Given the description of an element on the screen output the (x, y) to click on. 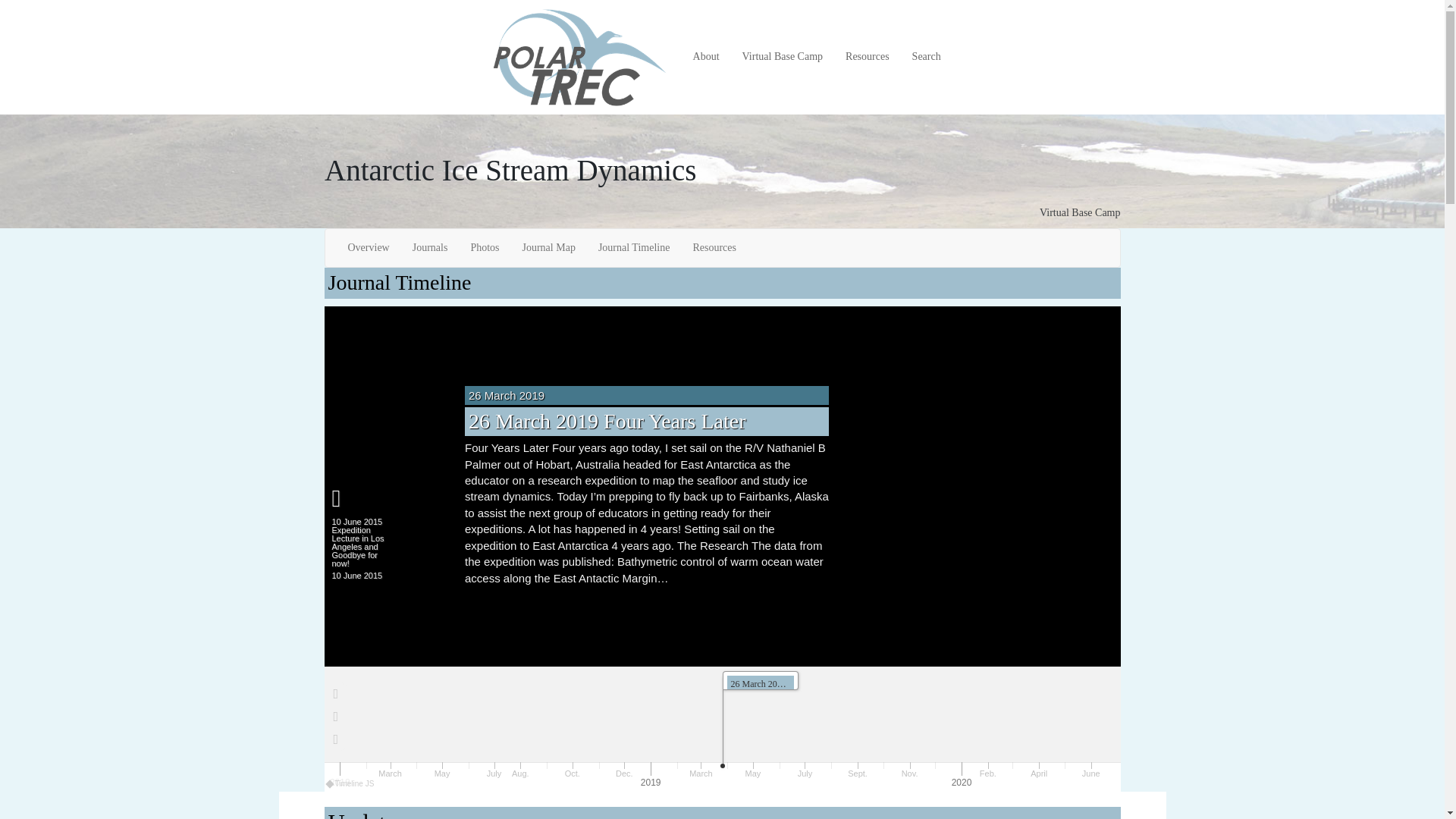
Photos (484, 247)
Virtual Base Camp (1079, 212)
Virtual Base Camp (782, 56)
Home (585, 57)
Journals (430, 247)
Overview (368, 247)
